Given the description of an element on the screen output the (x, y) to click on. 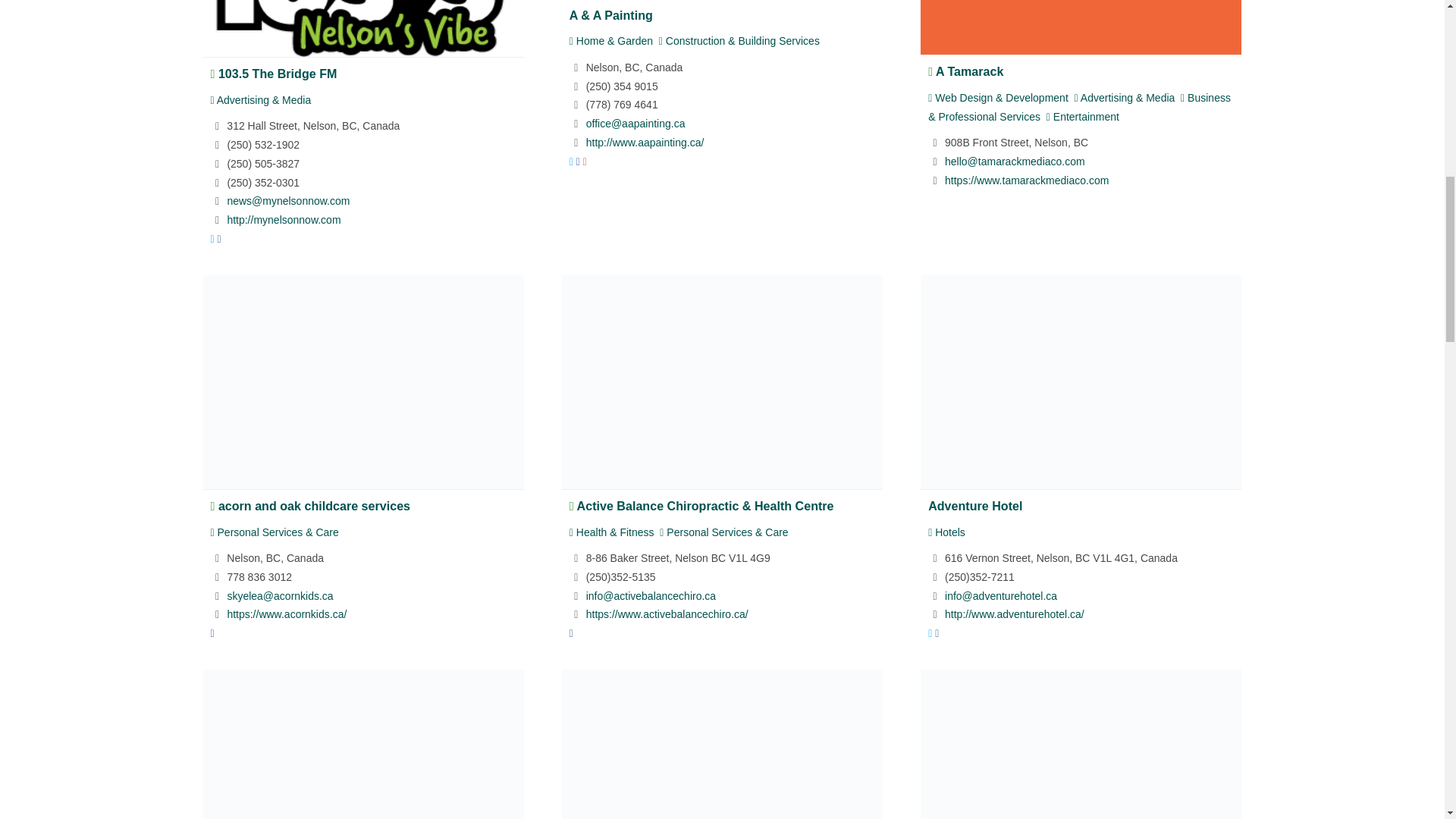
A Tamarack (969, 70)
103.5 The Bridge FM (277, 73)
